Given the description of an element on the screen output the (x, y) to click on. 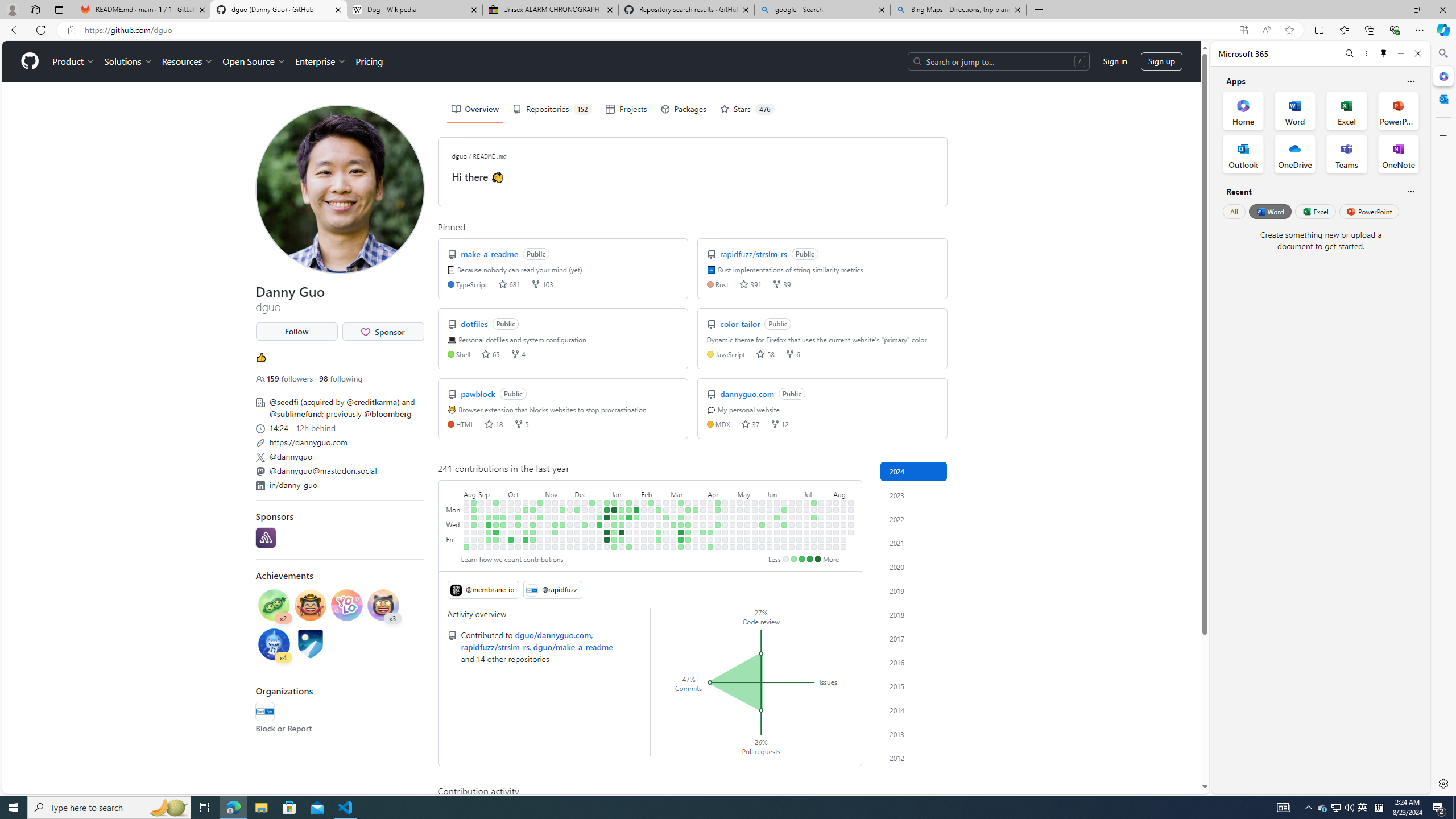
Sponsor @dguo (382, 331)
No contributions on February 28th. (665, 524)
No contributions on July 22nd. (821, 509)
No contributions on November 1st. (540, 524)
No contributions on February 16th. (651, 539)
X (259, 456)
in/danny-guo (338, 483)
2018 (913, 614)
No contributions on November 24th. (562, 539)
No contributions on February 7th. (643, 524)
No contributions on November 25th. (562, 546)
No contributions on May 18th. (747, 546)
No contributions on December 15th. (585, 539)
No contributions on September 4th. (481, 509)
No contributions on February 4th. (643, 502)
